Given the description of an element on the screen output the (x, y) to click on. 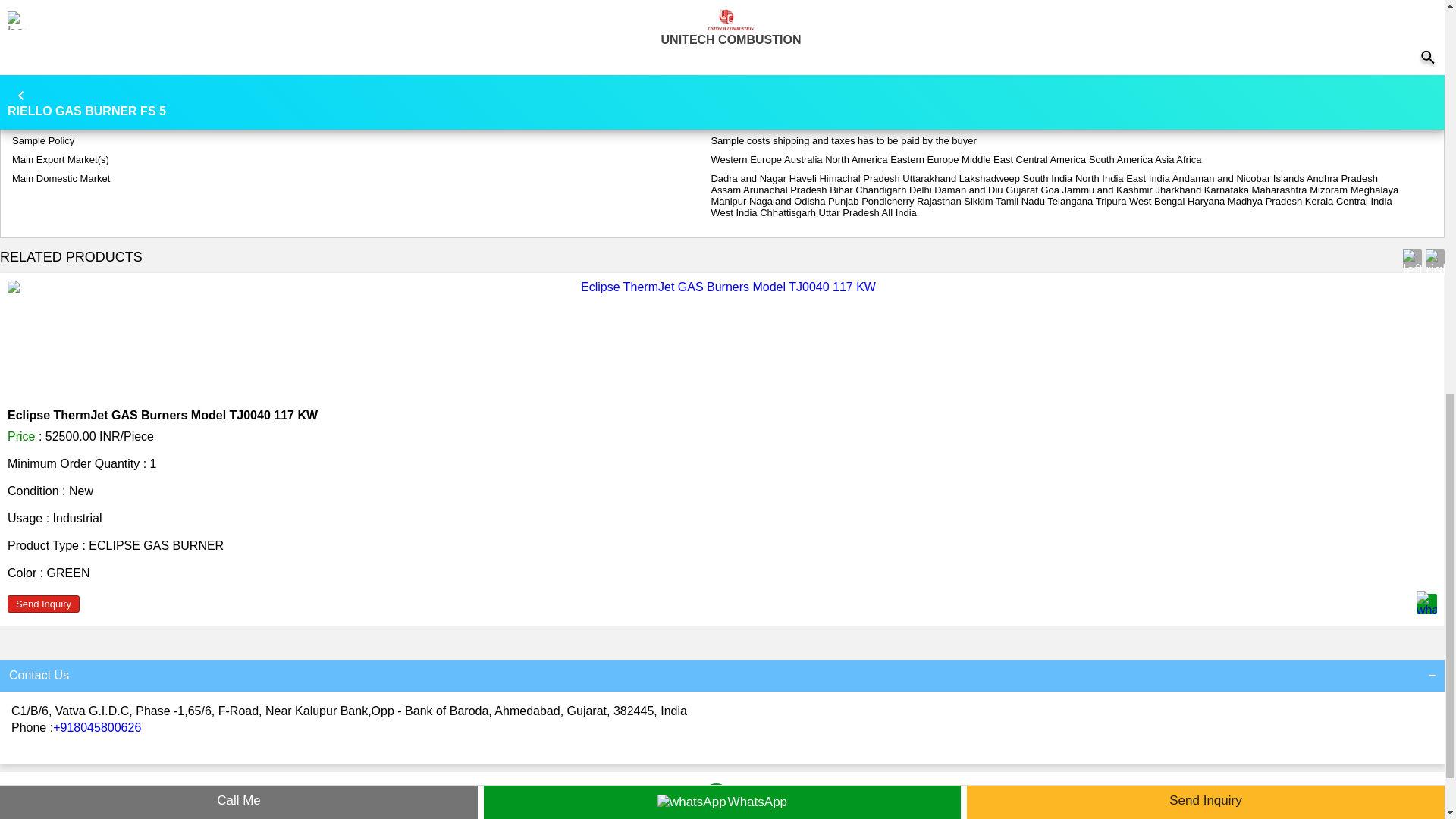
Send Inquiry (43, 603)
Eclipse ThermJet GAS Burners Model TJ0040 117 KW (162, 414)
